Given the description of an element on the screen output the (x, y) to click on. 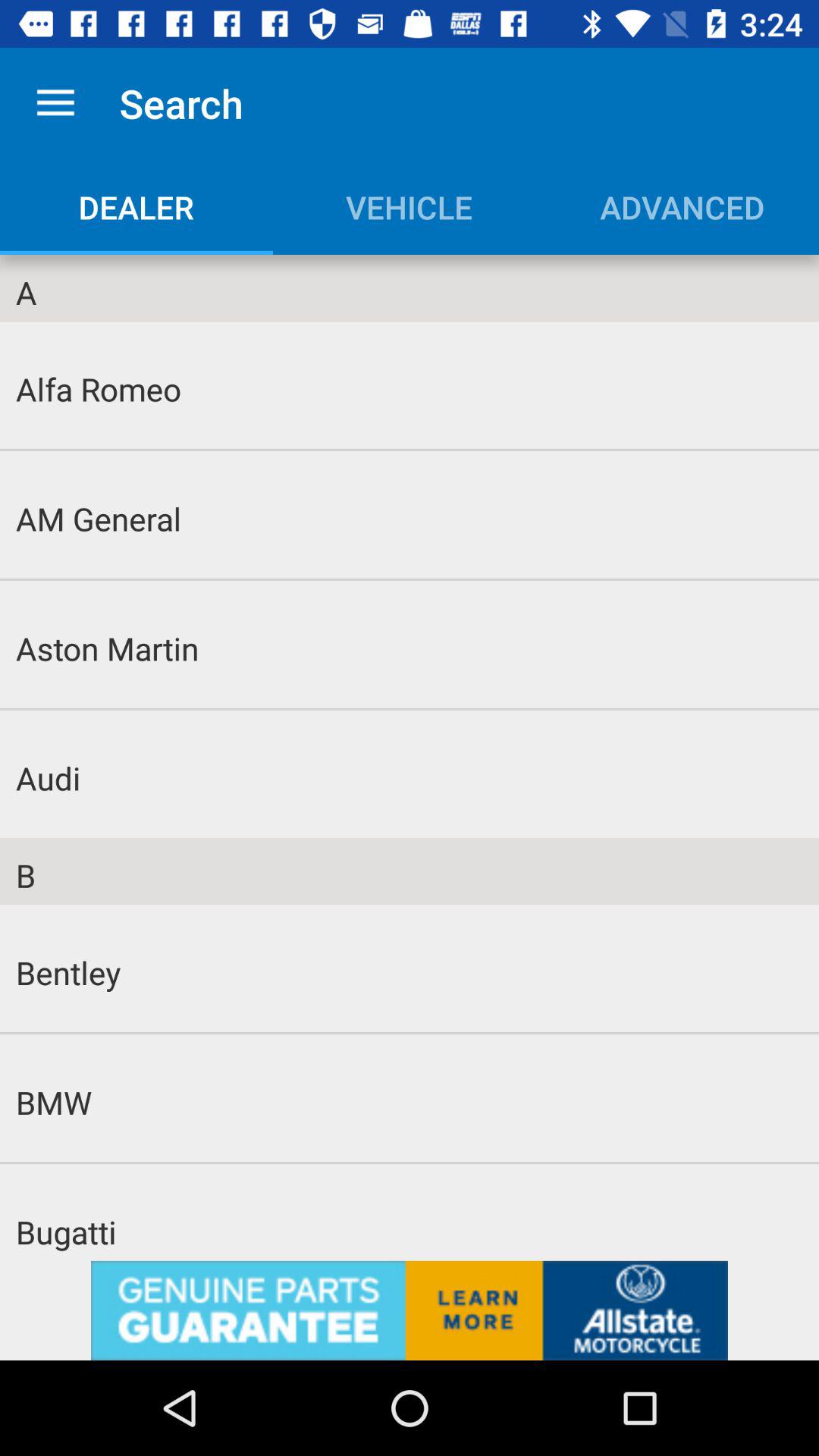
go to the website (409, 1310)
